Given the description of an element on the screen output the (x, y) to click on. 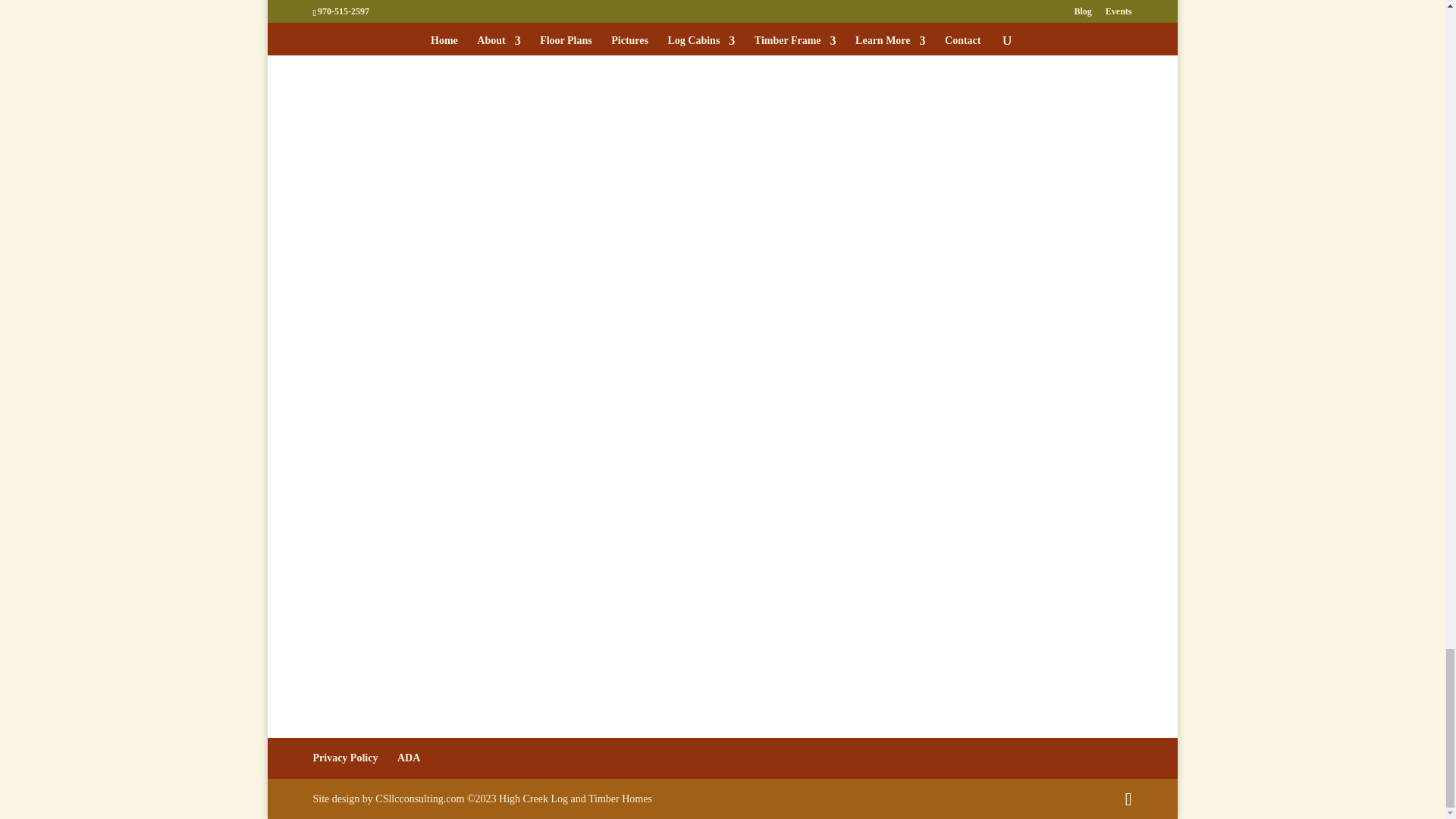
ADA (408, 757)
Privacy Policy (345, 757)
